Given the description of an element on the screen output the (x, y) to click on. 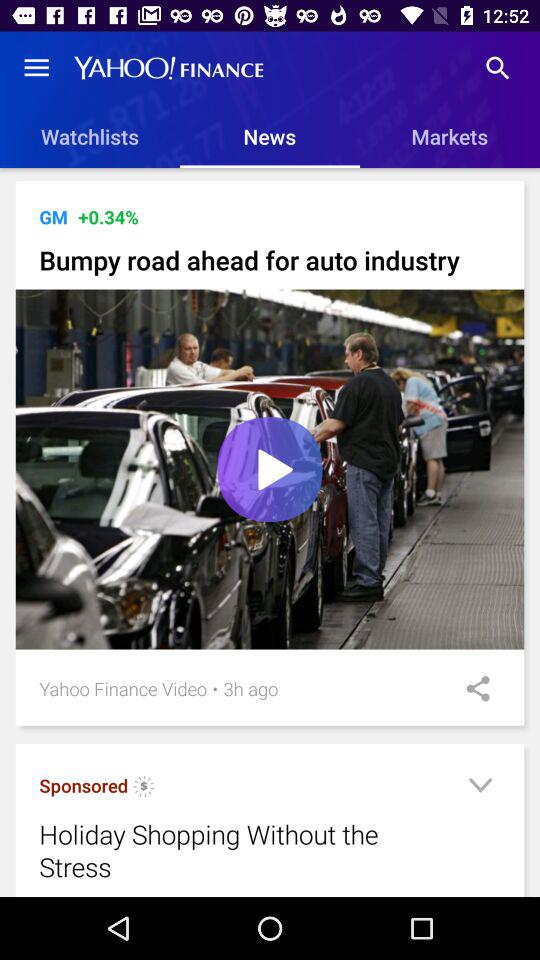
shows expand option (480, 788)
